Given the description of an element on the screen output the (x, y) to click on. 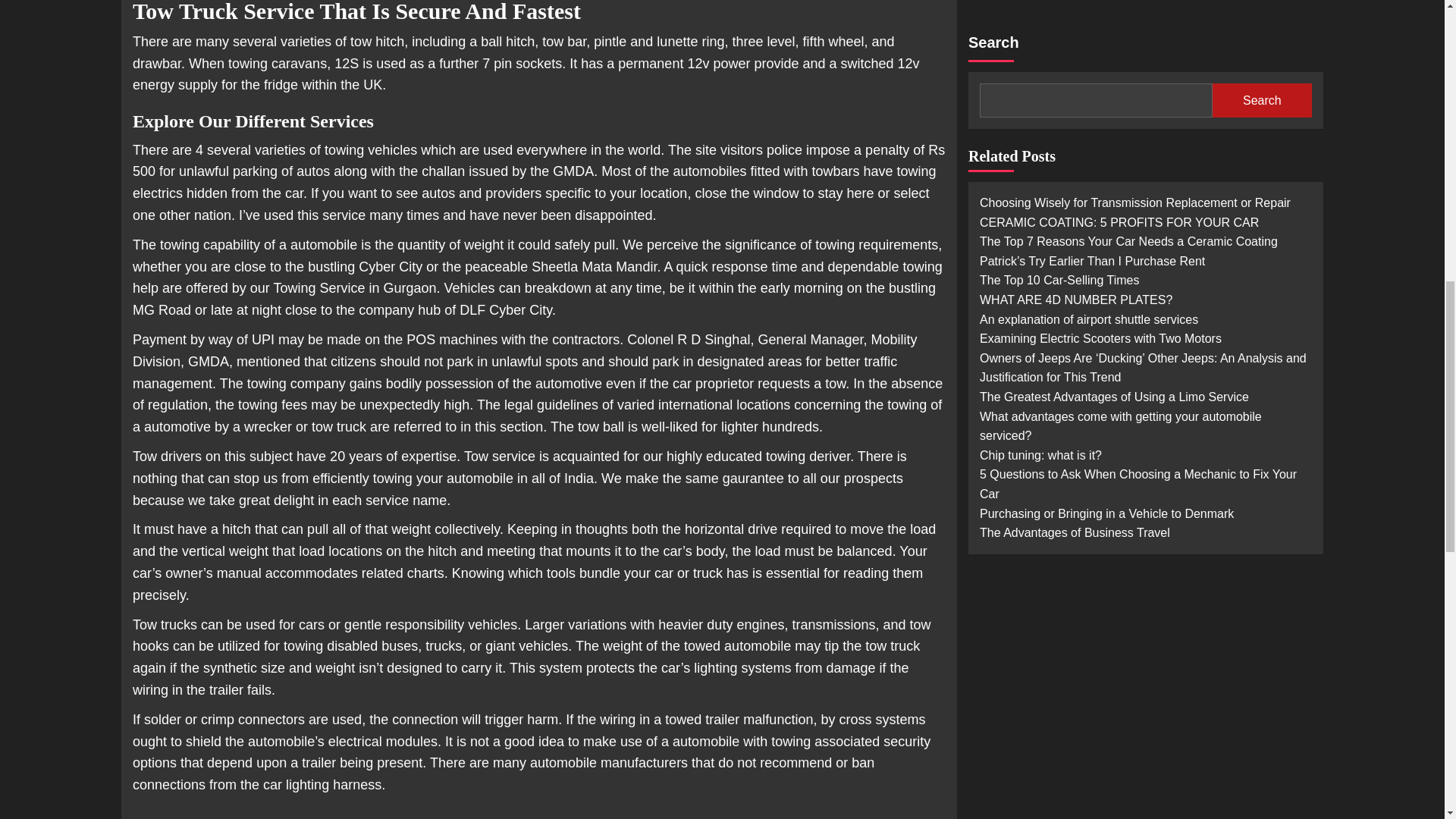
english (176, 818)
towing (252, 818)
which (288, 818)
means (216, 818)
